Given the description of an element on the screen output the (x, y) to click on. 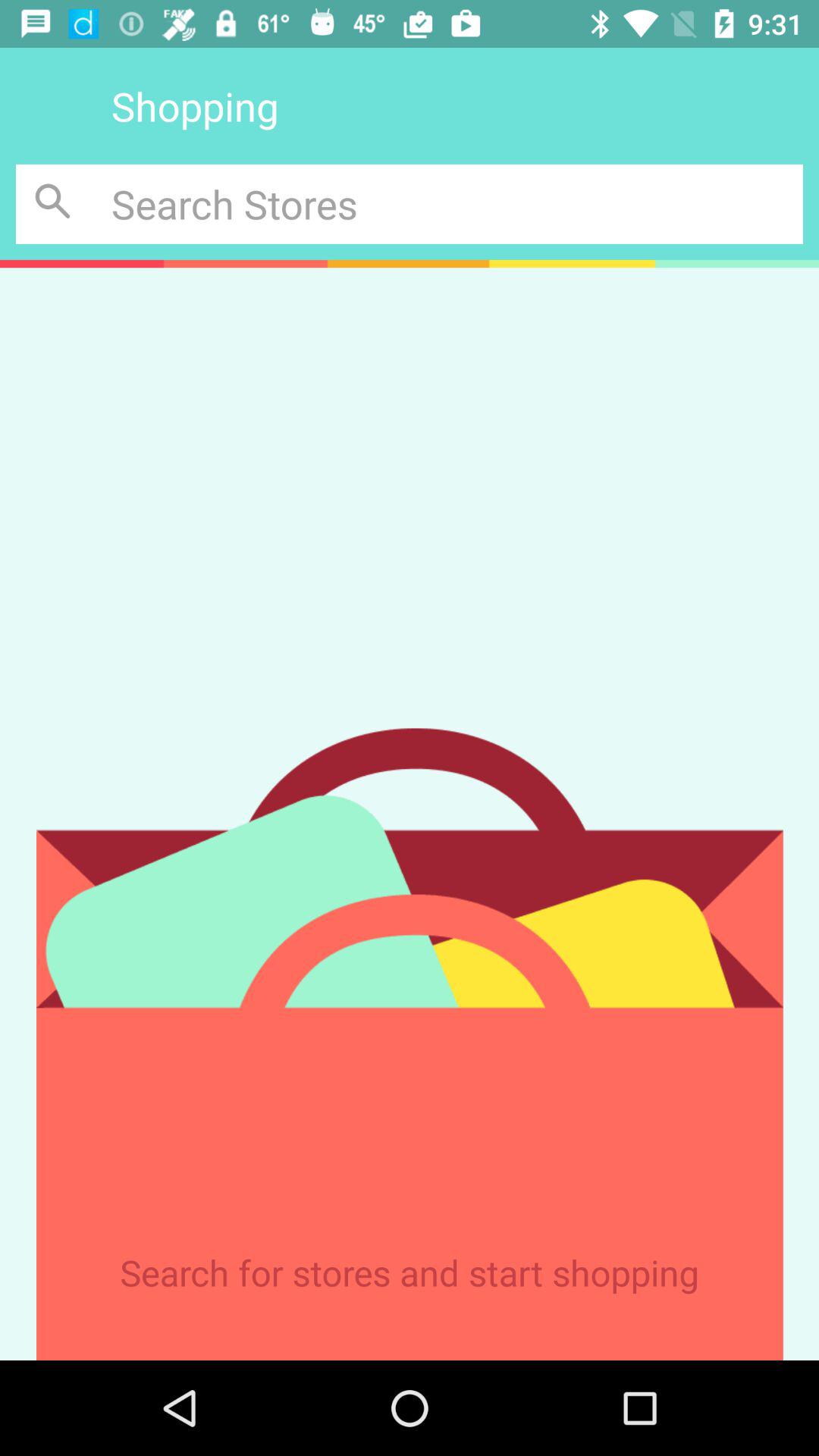
search button (55, 204)
